Given the description of an element on the screen output the (x, y) to click on. 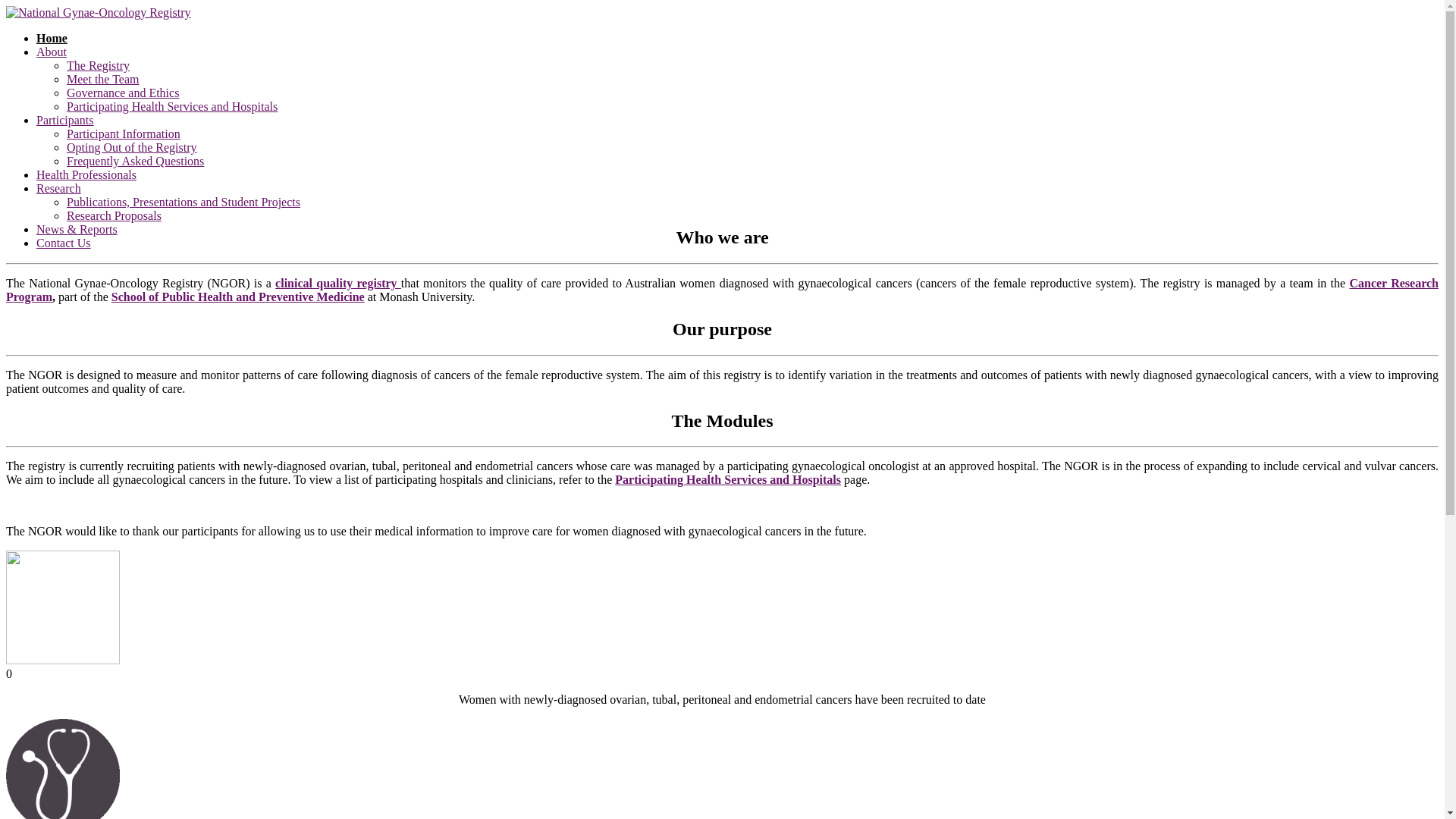
Research Element type: text (58, 188)
About Element type: text (51, 51)
The Registry Element type: text (97, 65)
Governance and Ethics Element type: text (122, 92)
Participant Information Element type: text (123, 133)
Participants Element type: text (65, 119)
Health Professionals Element type: text (86, 174)
Contact Us Element type: text (63, 242)
School of Public Health and Preventive Medicine Element type: text (237, 296)
Participating Health Services and Hospitals Element type: text (171, 106)
National Gynae-Oncology Registry Element type: hover (98, 12)
Cancer Research Program Element type: text (722, 289)
Opting Out of the Registry Element type: text (131, 147)
Meet the Team Element type: text (102, 78)
clinical quality registry Element type: text (338, 282)
News & Reports Element type: text (76, 228)
Publications, Presentations and Student Projects Element type: text (183, 201)
Home Element type: text (51, 37)
Participating Health Services and Hospitals Element type: text (727, 479)
Frequently Asked Questions Element type: text (134, 160)
Research Proposals Element type: text (113, 215)
